Given the description of an element on the screen output the (x, y) to click on. 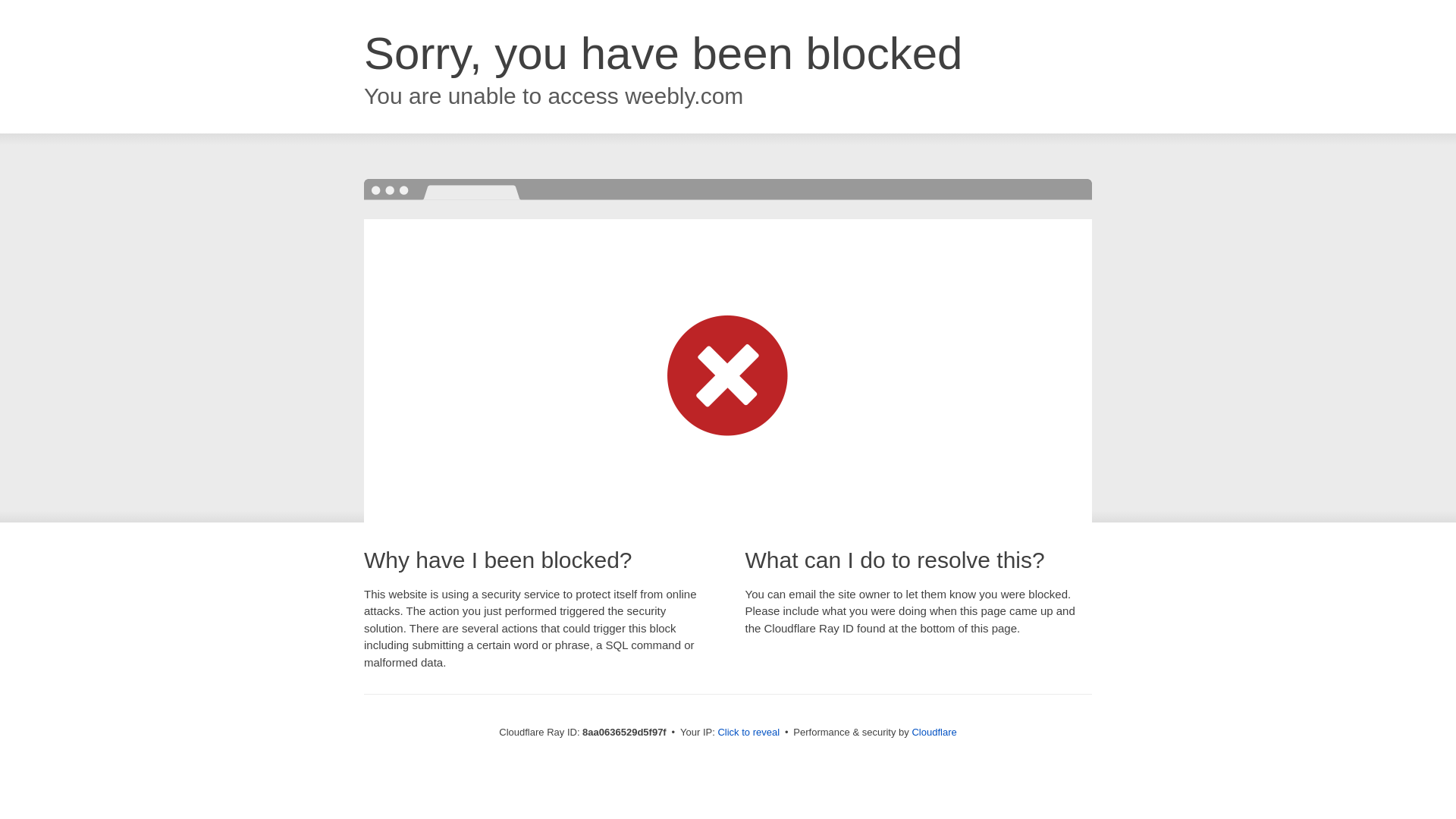
Cloudflare (933, 731)
Click to reveal (747, 732)
